Given the description of an element on the screen output the (x, y) to click on. 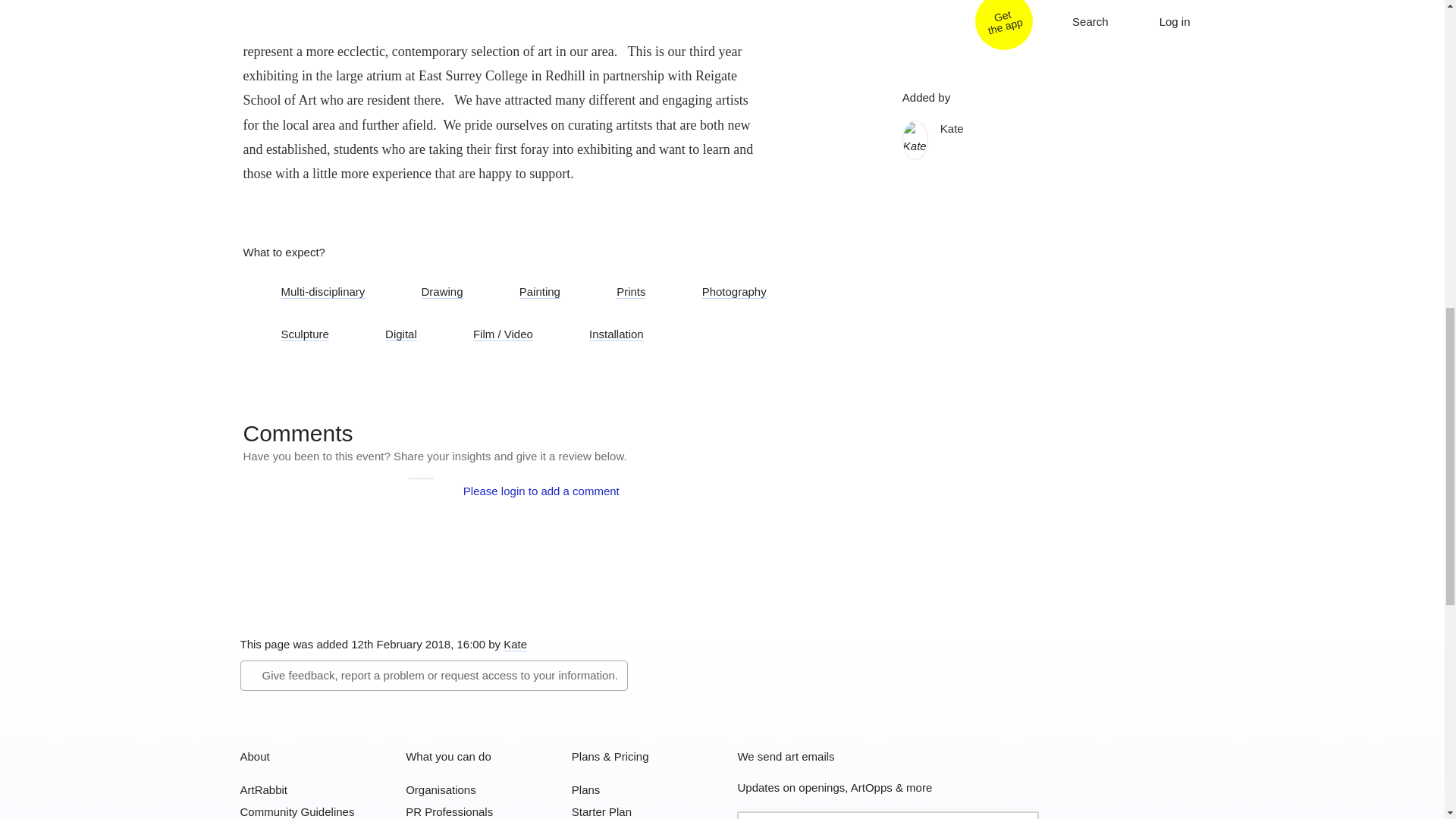
Drawing (431, 293)
Multi-disciplinary (311, 293)
submit (1021, 816)
